Given the description of an element on the screen output the (x, y) to click on. 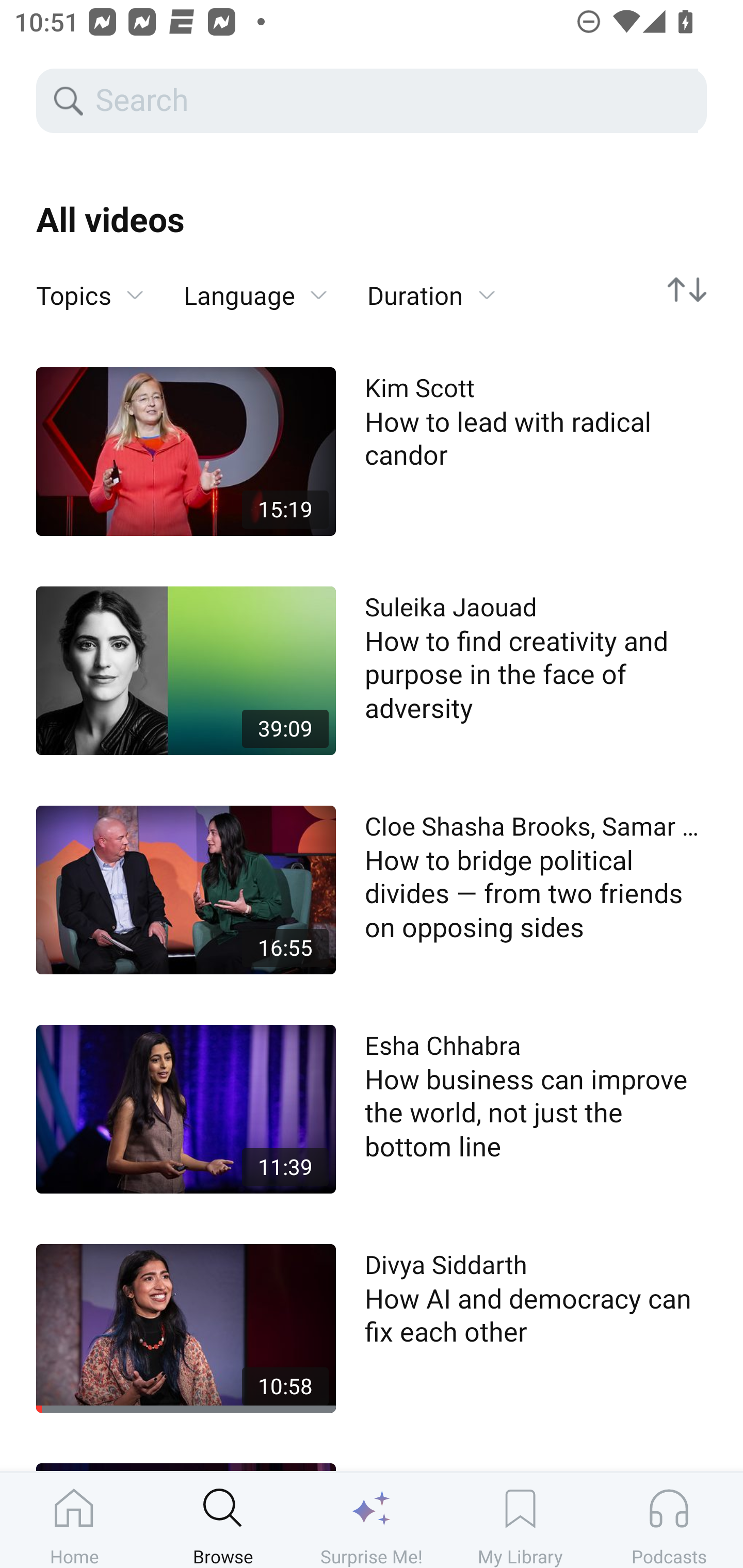
Search (395, 100)
Topics (90, 295)
Language (255, 295)
Duration (431, 295)
15:19 Kim Scott How to lead with radical candor (371, 451)
Home (74, 1520)
Browse (222, 1520)
Surprise Me! (371, 1520)
My Library (519, 1520)
Podcasts (668, 1520)
